Given the description of an element on the screen output the (x, y) to click on. 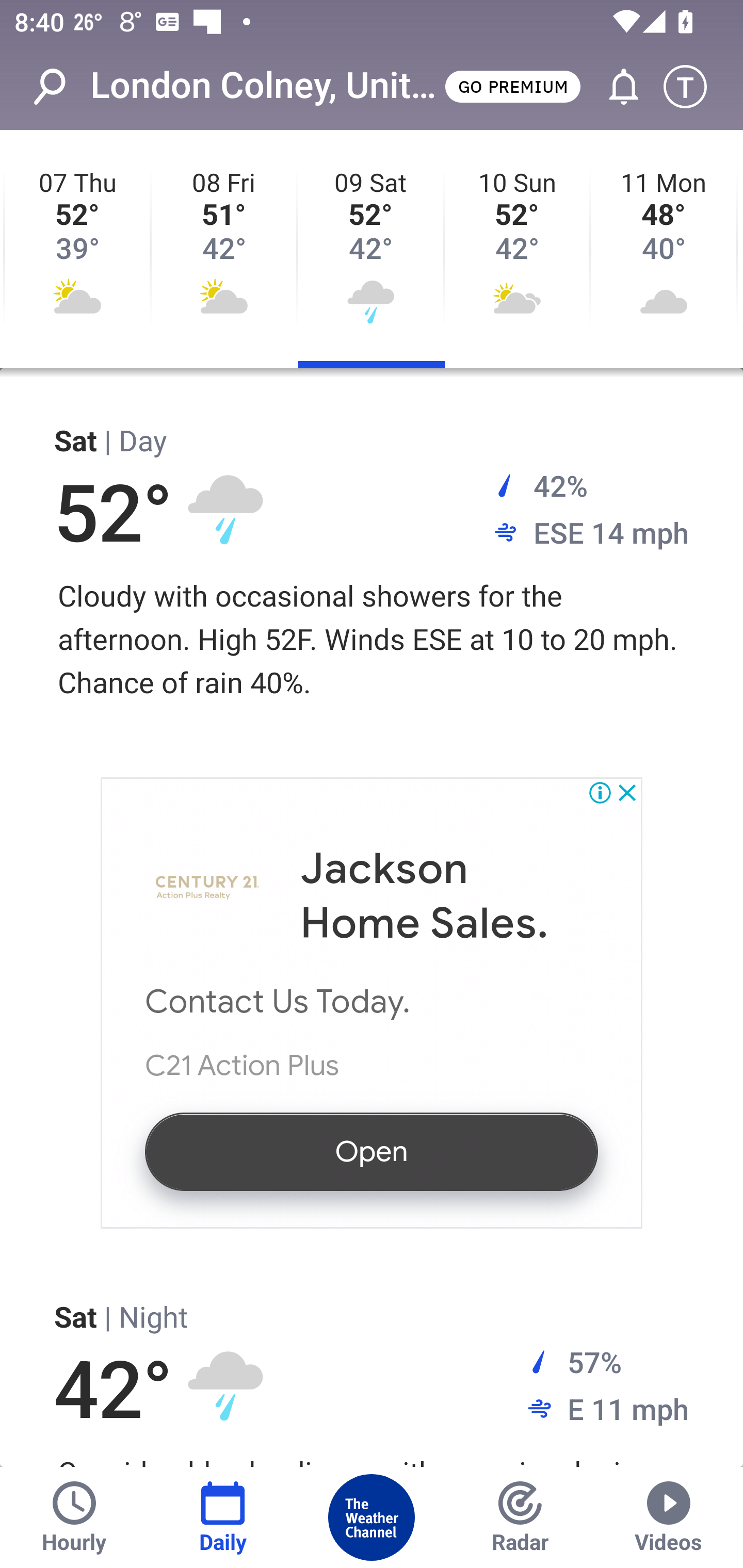
Search (59, 86)
Go to Alerts and Notifications (614, 86)
Setting icon T (694, 86)
London Colney, United Kingdom (265, 85)
GO PREMIUM (512, 85)
C21 Action Plus (207, 887)
Jackson Home Sales. Jackson Home Sales. (424, 896)
Contact Us Today. (278, 1001)
C21 Action Plus (242, 1064)
Open (371, 1152)
Hourly Tab Hourly (74, 1517)
Home Tab (371, 1517)
Radar Tab Radar (519, 1517)
Videos Tab Videos (668, 1517)
